Given the description of an element on the screen output the (x, y) to click on. 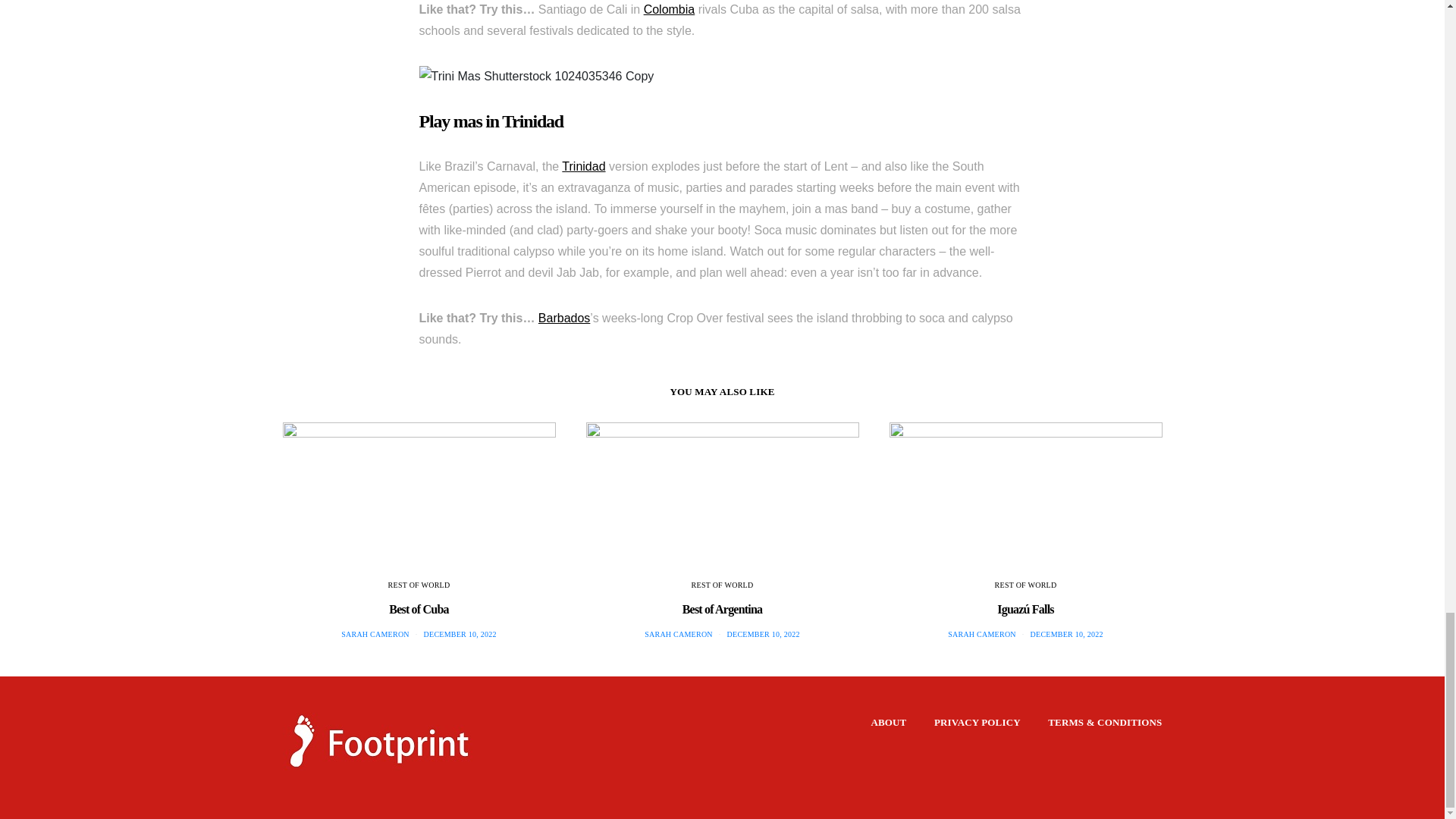
View all posts by Sarah Cameron (981, 633)
Barbados (564, 318)
Colombia (669, 9)
View all posts by Sarah Cameron (374, 633)
View all posts by Sarah Cameron (679, 633)
Trinidad (583, 165)
